Given the description of an element on the screen output the (x, y) to click on. 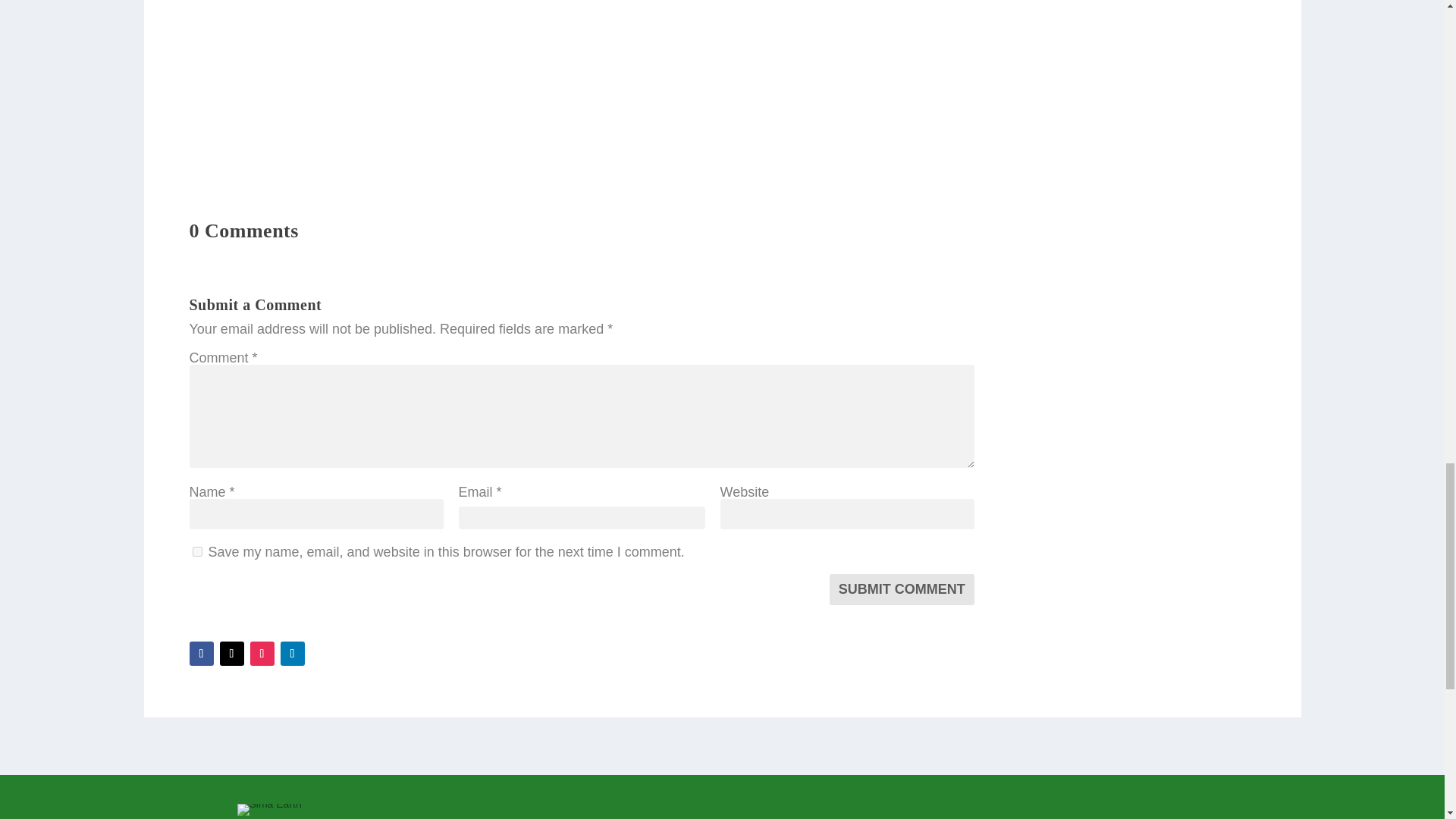
yes (197, 551)
